Given the description of an element on the screen output the (x, y) to click on. 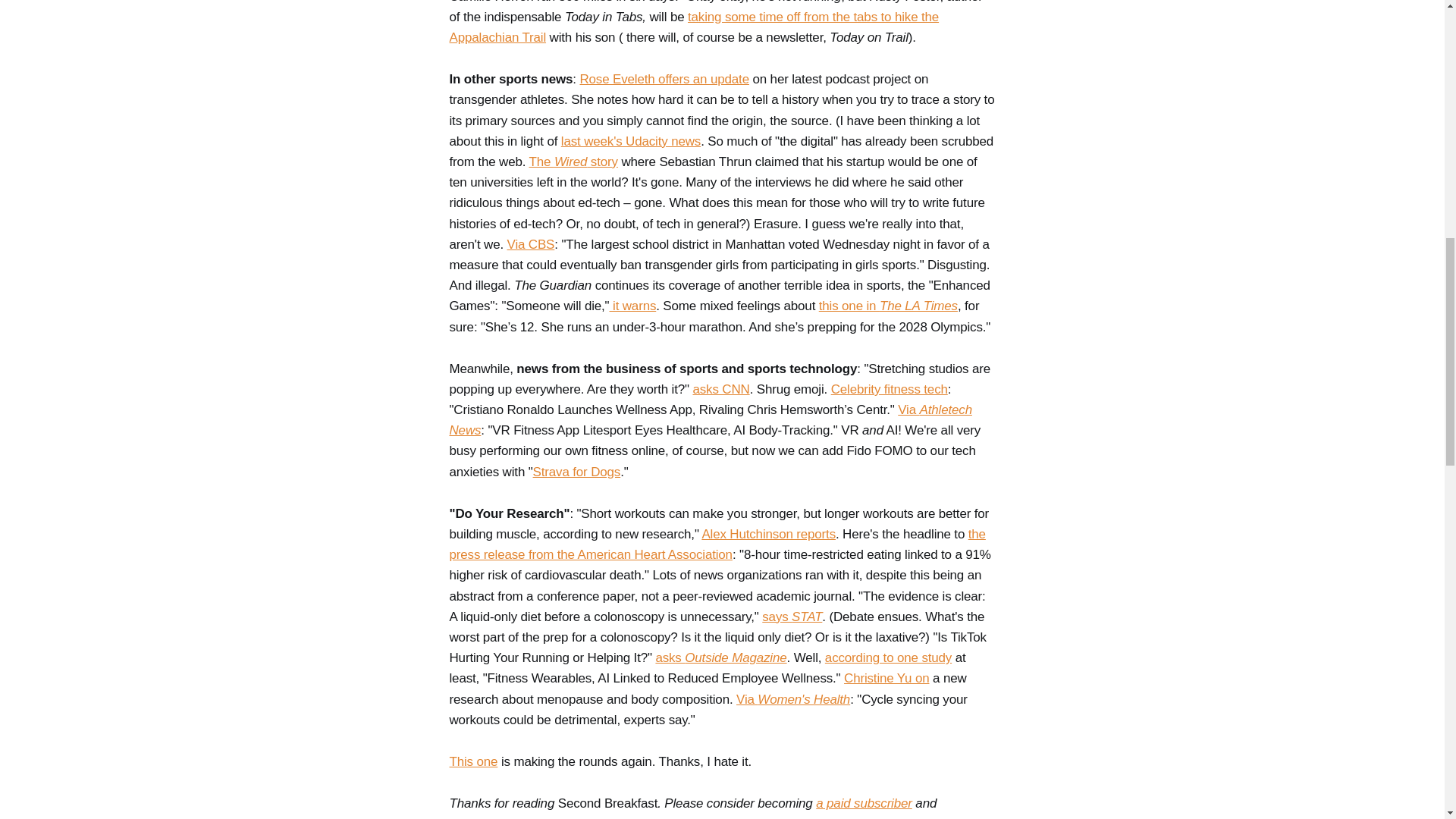
Celebrity fitness tech (889, 389)
Via CBS (530, 244)
This one (472, 761)
this one in The LA Times (888, 305)
Alex Hutchinson reports (768, 534)
Via Athletech News (709, 419)
according to one study (888, 657)
Via Women's Health (793, 699)
says STAT (791, 616)
last week's Udacity news (630, 141)
Christine Yu on (886, 677)
the press release from the American Heart Association (716, 544)
a paid subscriber (863, 803)
The Wired story (573, 161)
